Given the description of an element on the screen output the (x, y) to click on. 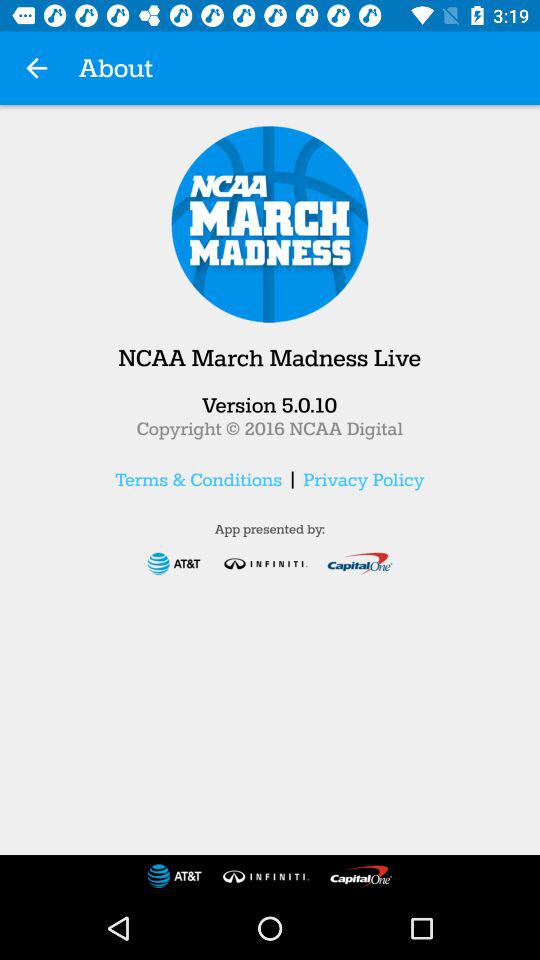
swipe to terms & conditions item (198, 479)
